Given the description of an element on the screen output the (x, y) to click on. 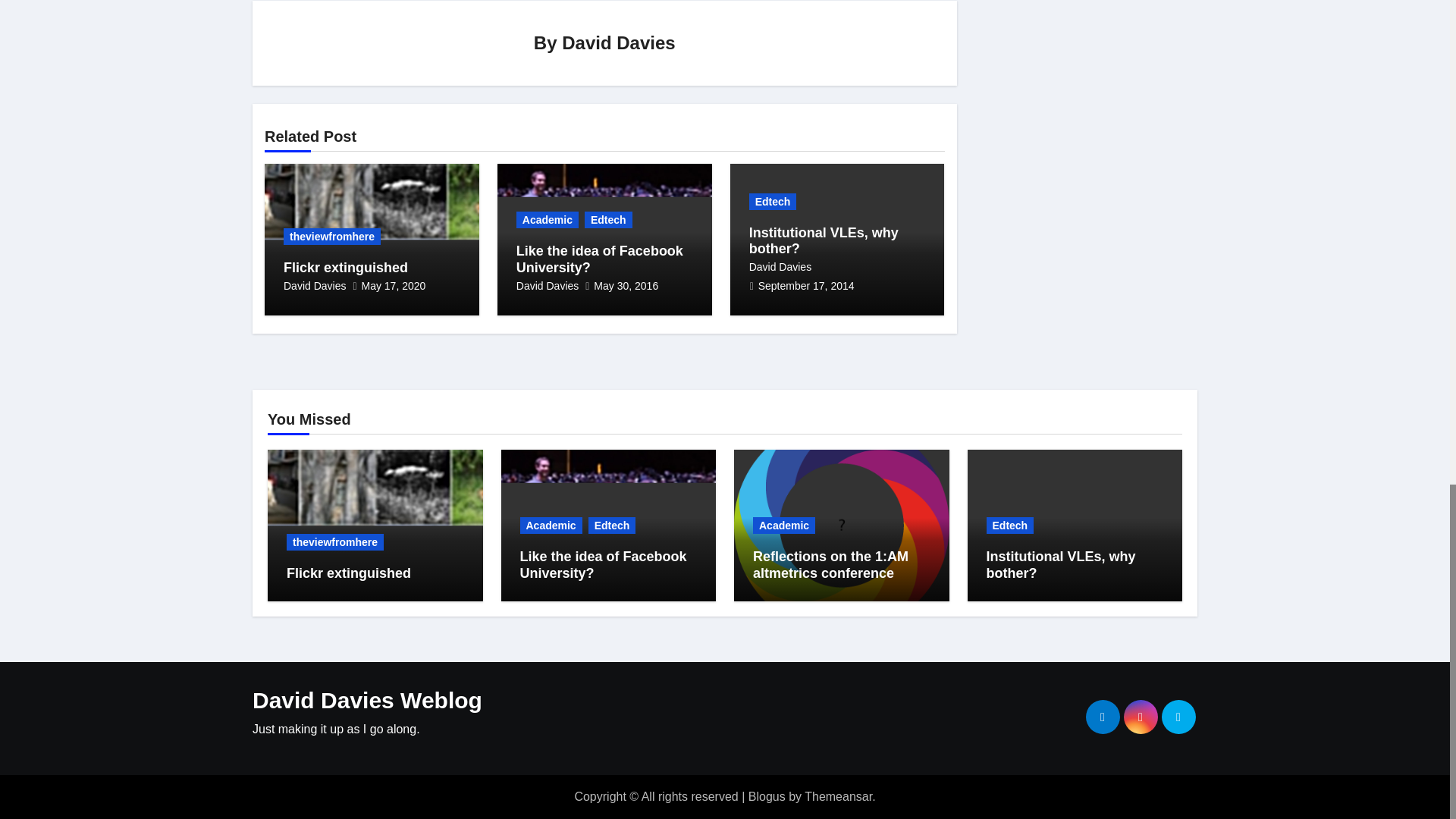
Flickr extinguished (345, 267)
Permalink to: Like the idea of Facebook University? (603, 564)
theviewfromhere (331, 236)
Permalink to: Flickr extinguished (348, 572)
Permalink to: Reflections on the 1:AM altmetrics conference (830, 564)
David Davies (314, 285)
Permalink to: Institutional VLEs, why bother? (823, 241)
Permalink to: Institutional VLEs, why bother? (1060, 564)
Permalink to: Like the idea of Facebook University? (599, 259)
David Davies (618, 42)
